Given the description of an element on the screen output the (x, y) to click on. 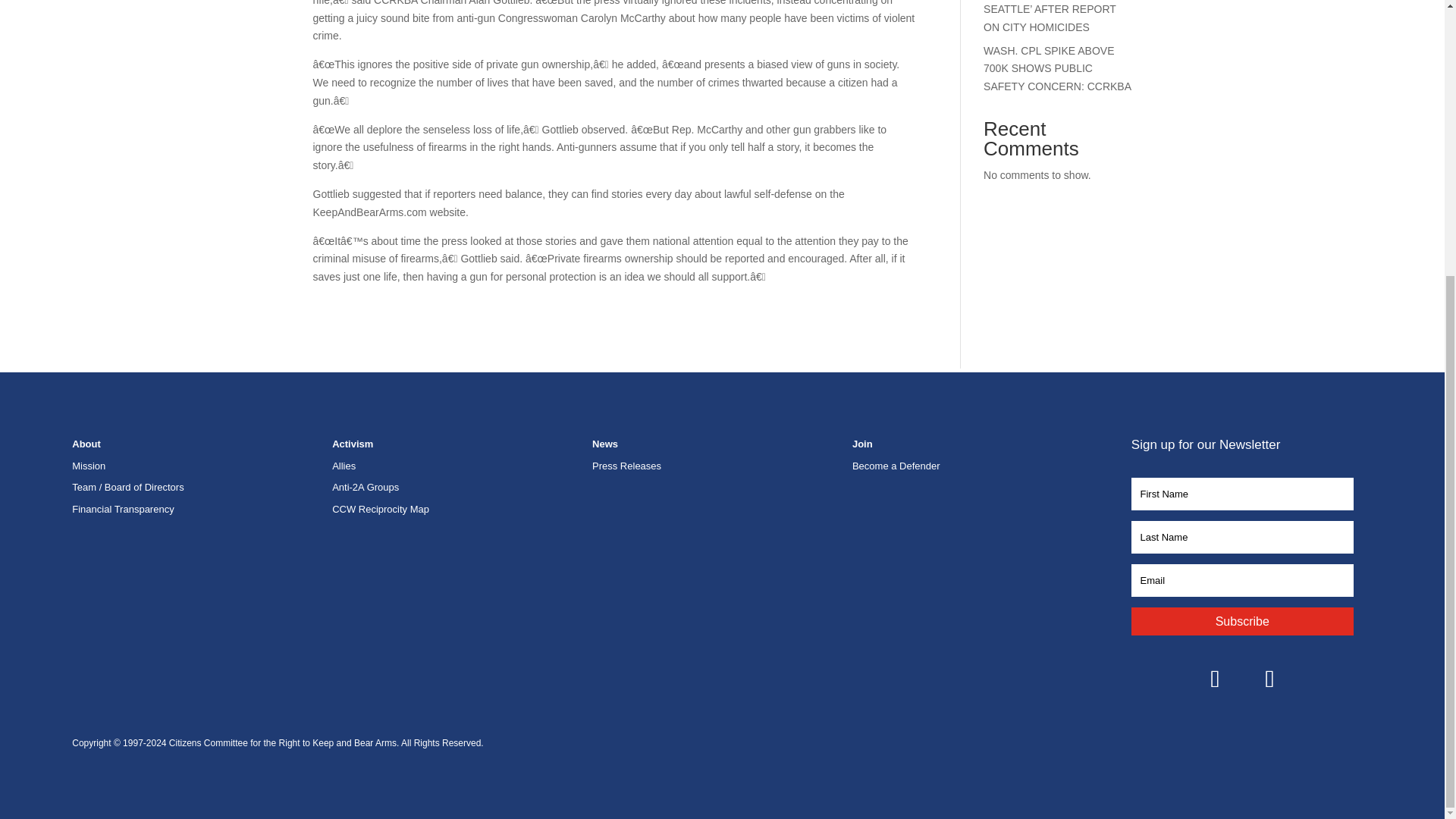
Follow on X (1269, 678)
Subscribe (1242, 621)
Follow on Facebook (1215, 678)
